Given the description of an element on the screen output the (x, y) to click on. 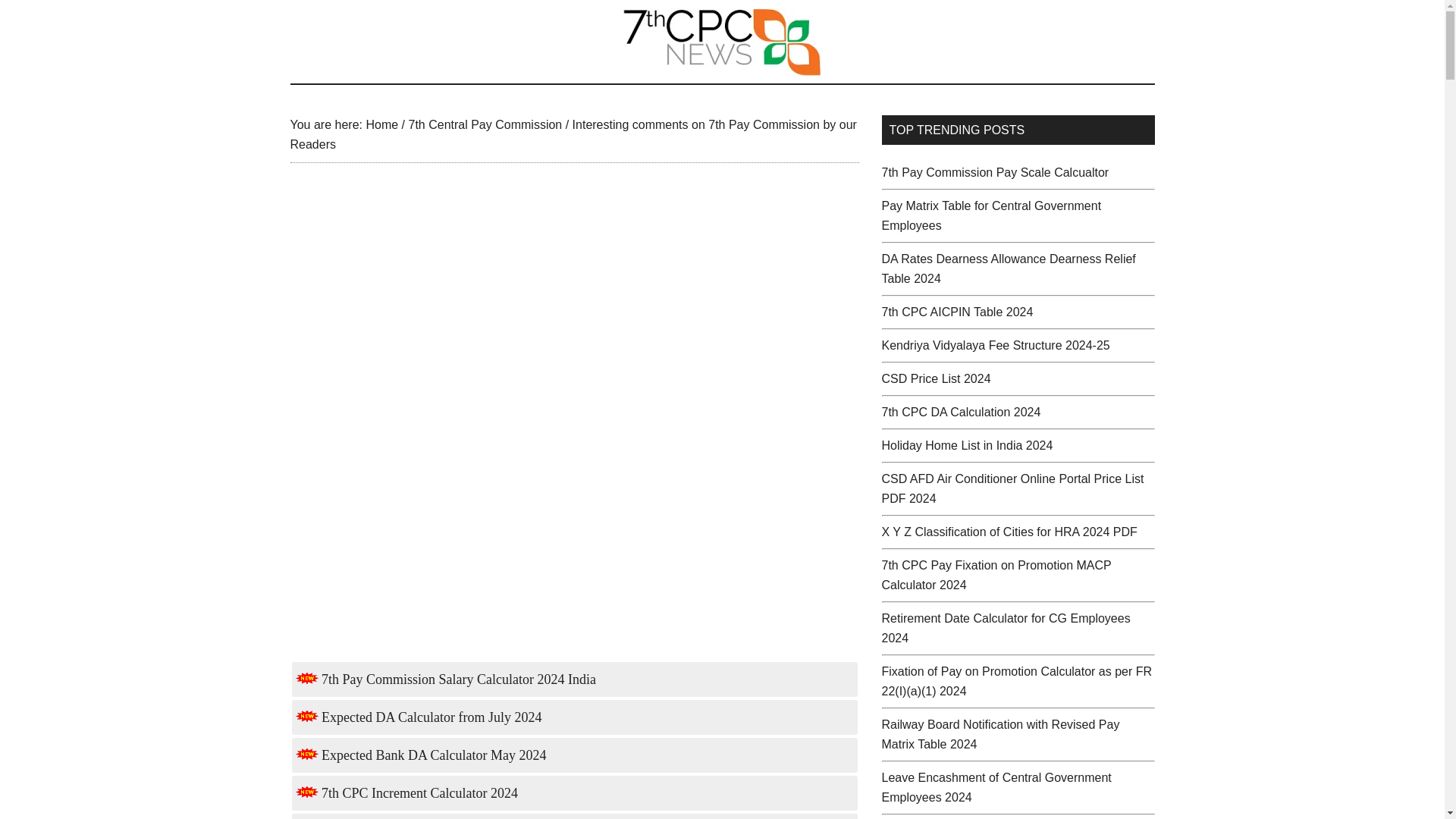
7th Central Pay Commission (484, 124)
7th Pay Commission Salary Calculator 2024 India (445, 679)
7th Pay Commission Annual Increment Calculator (406, 792)
Expected Bank DA Calculator May 2024 (421, 754)
Advertisement (574, 530)
Home (381, 124)
7th CPC Increment Calculator 2024 (406, 792)
Expected DA Calculator from July 2024 (418, 717)
Central Government Employees Latest News (721, 41)
